Given the description of an element on the screen output the (x, y) to click on. 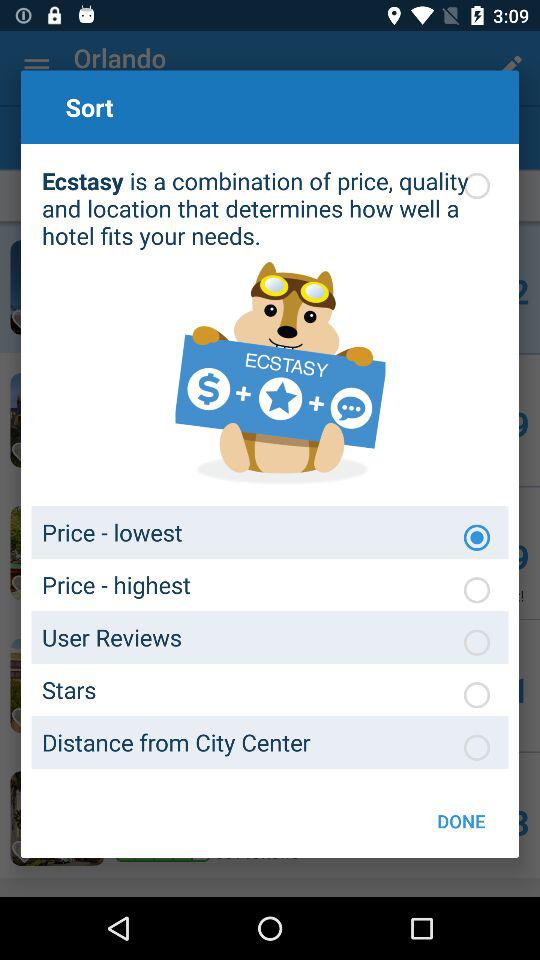
chooses how to sort (477, 537)
